Given the description of an element on the screen output the (x, y) to click on. 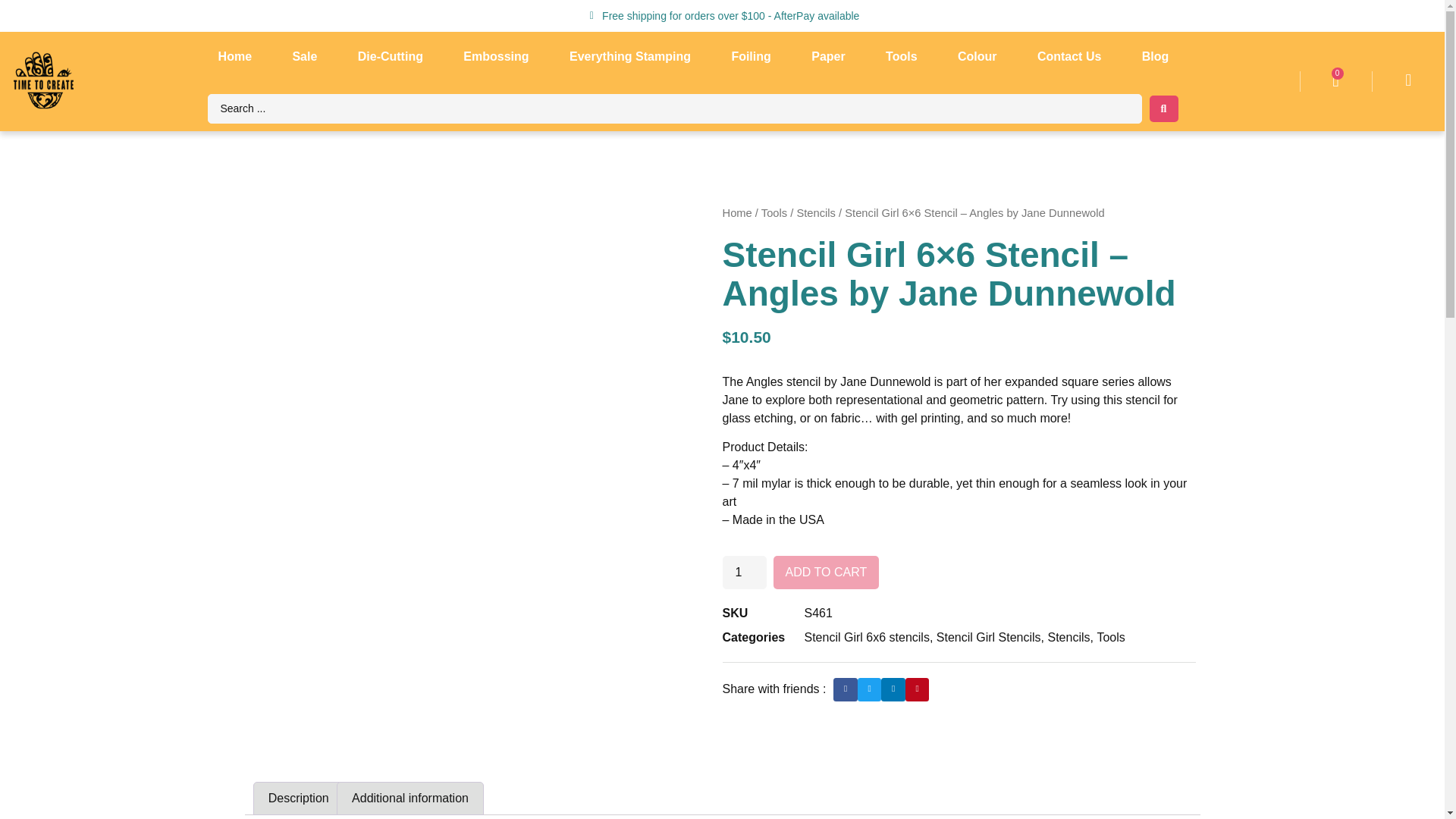
Die-Cutting (390, 56)
Home (235, 56)
1 (743, 572)
Embossing (495, 56)
Everything Stamping (629, 56)
Sale (304, 56)
